Given the description of an element on the screen output the (x, y) to click on. 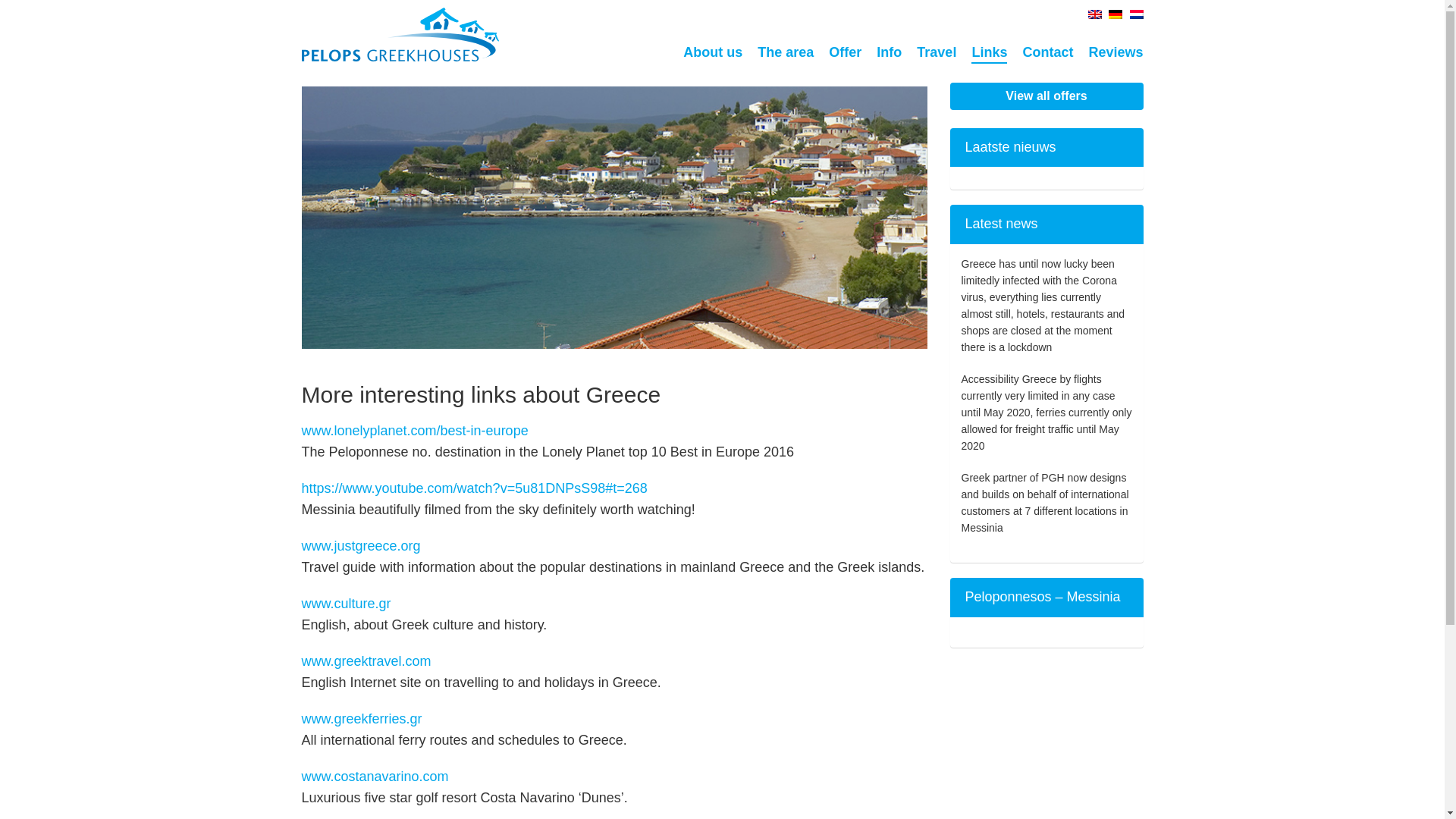
The area (785, 52)
www.costanavarino.com (374, 776)
About us (712, 52)
View all offers (1045, 95)
Info (888, 52)
Pelops Greek Houses (400, 56)
www.culture.gr (346, 603)
Links (989, 52)
Travel (936, 52)
Offer (844, 52)
www.justgreece.org (360, 545)
Contact (1047, 52)
www.greektravel.com (365, 661)
Reviews (1114, 52)
www.greekferries.gr (361, 718)
